Given the description of an element on the screen output the (x, y) to click on. 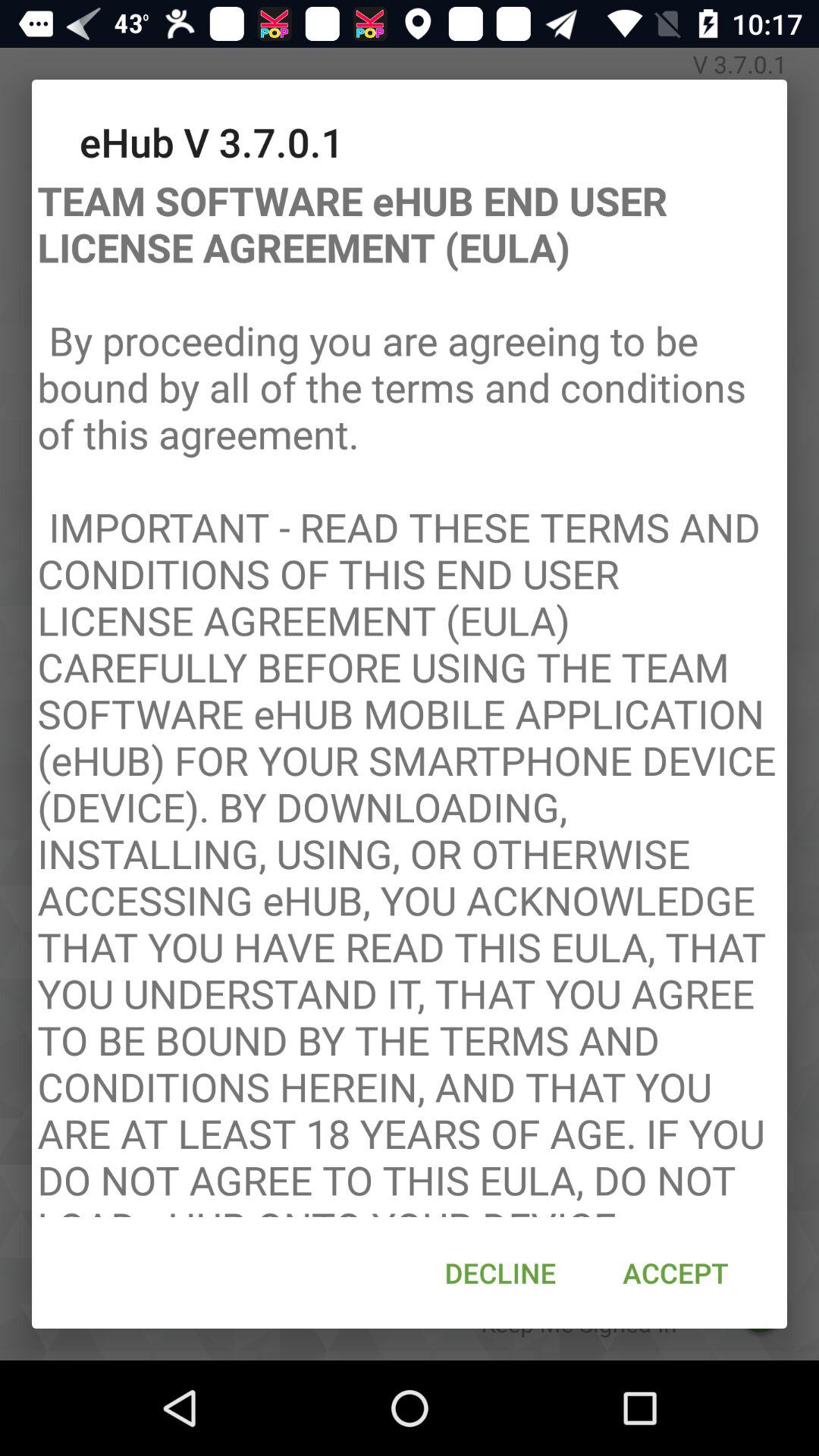
scroll until the decline (500, 1272)
